Given the description of an element on the screen output the (x, y) to click on. 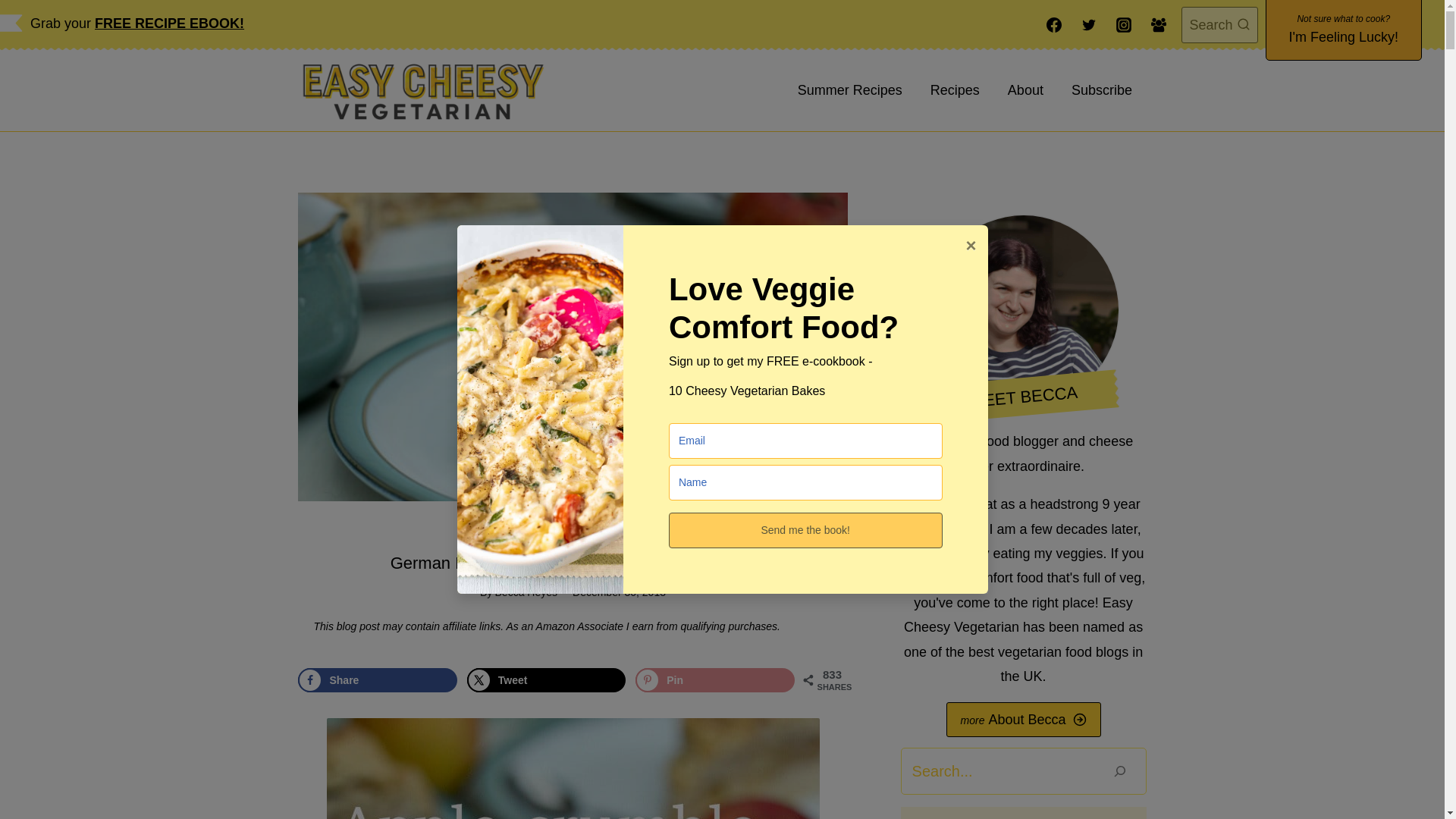
Dessert Recipes (640, 532)
Share (377, 680)
I'm Feeling Lucky! (1343, 30)
Subscribe (1101, 90)
Pin (713, 680)
FREE RECIPE EBOOK! (169, 23)
Apple crumble cake (572, 768)
Recipes (953, 90)
Share on Facebook (377, 680)
Recipes by Meal Type (533, 532)
Summer Recipes (849, 90)
Share on X (546, 680)
About (1024, 90)
Search (1218, 25)
Becca Heyes (526, 592)
